Given the description of an element on the screen output the (x, y) to click on. 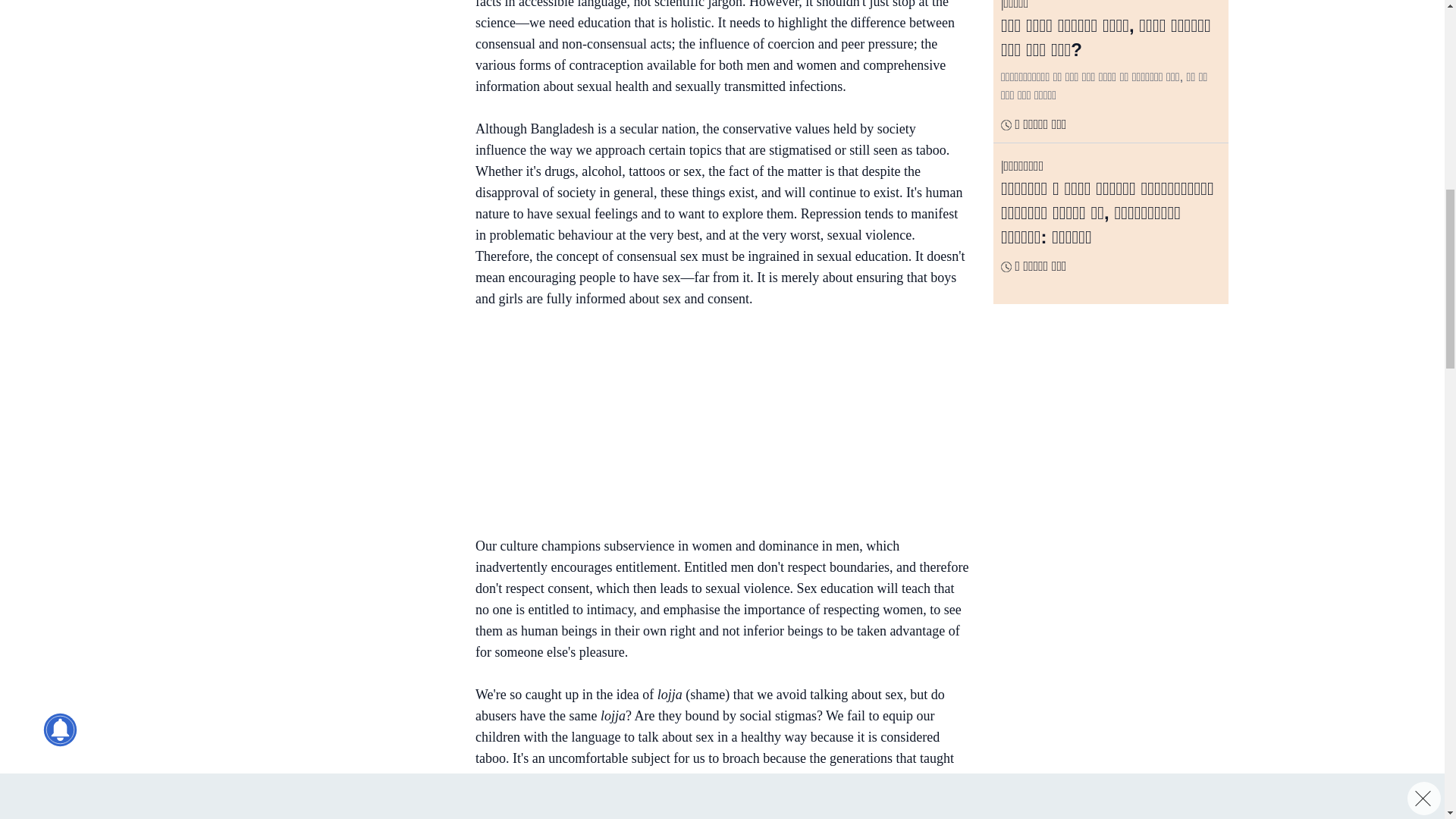
3rd party ad content (713, 425)
3rd party ad content (332, 49)
3rd party ad content (332, 208)
